Given the description of an element on the screen output the (x, y) to click on. 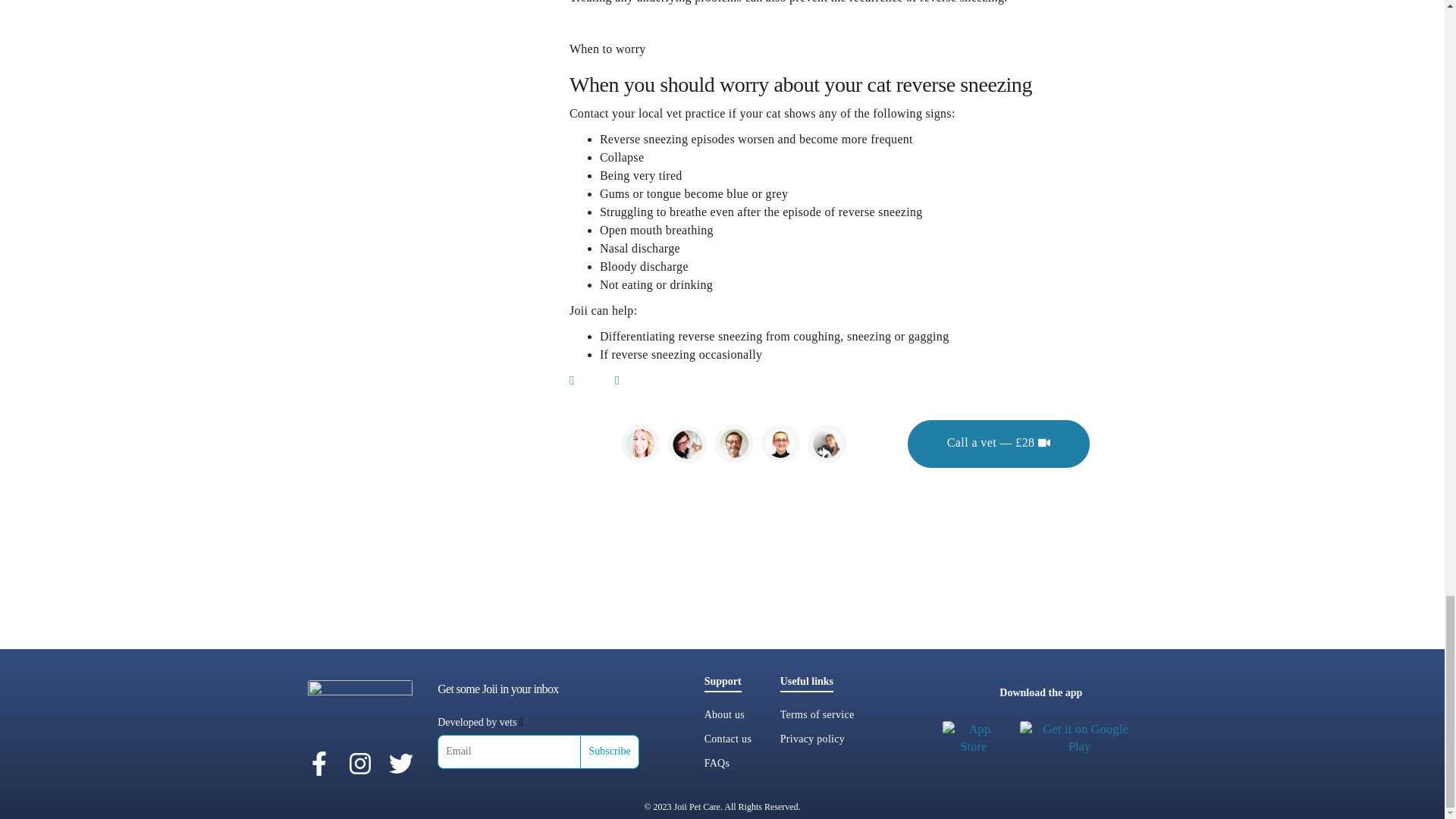
Subscribe (609, 751)
App Store (973, 738)
Get it on Google Play (1080, 738)
